Given the description of an element on the screen output the (x, y) to click on. 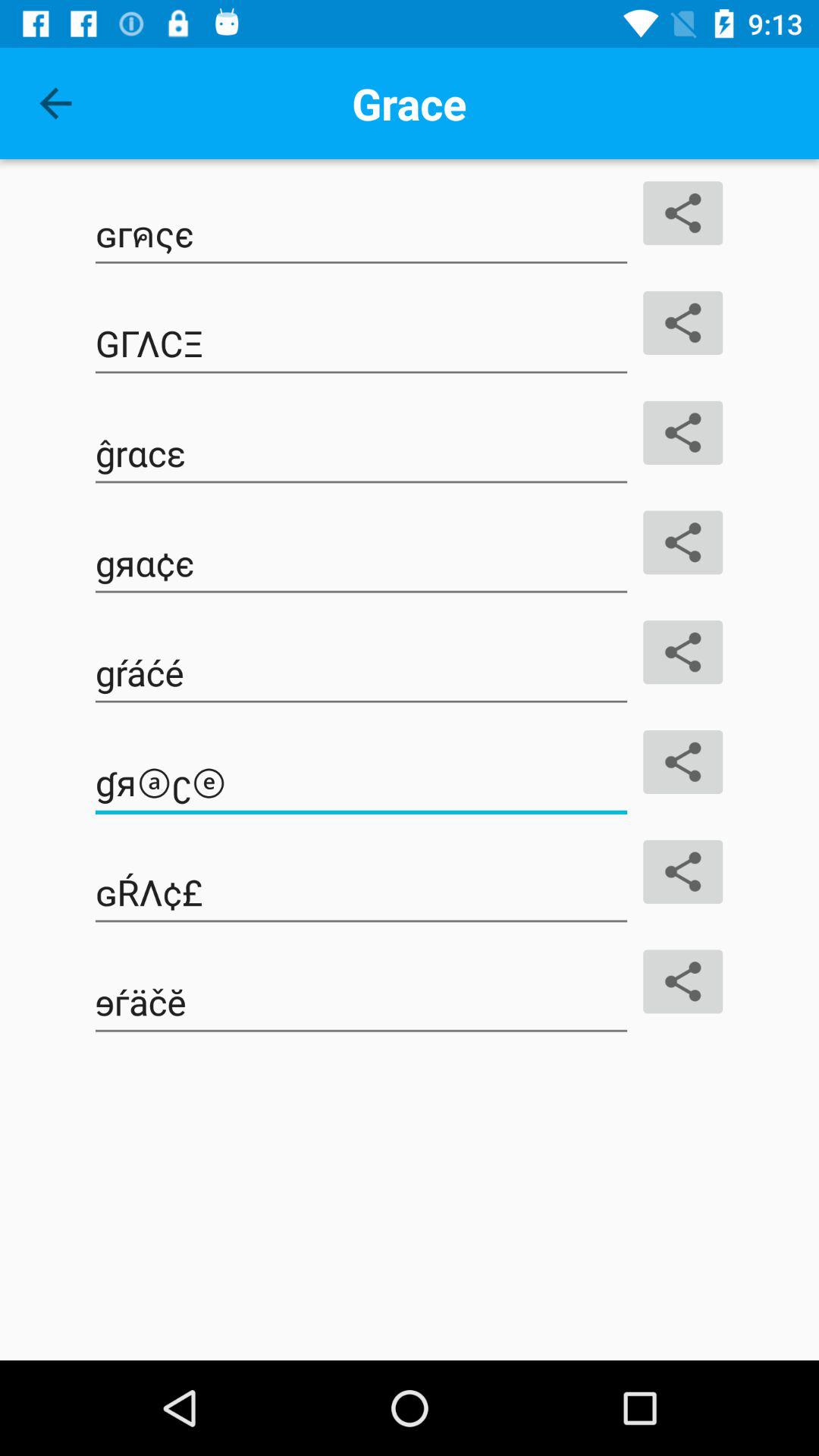
select the 4th share icon (683, 542)
select the text which is on the sixth line (361, 783)
select the text which is on the fourth line (361, 563)
click on the last but third button of the page (361, 672)
click on the share icon which is in the fifth line (683, 651)
click on the share icon which is in the second line (683, 322)
click on the button which is below the grace and left side of the share button (361, 234)
